Given the description of an element on the screen output the (x, y) to click on. 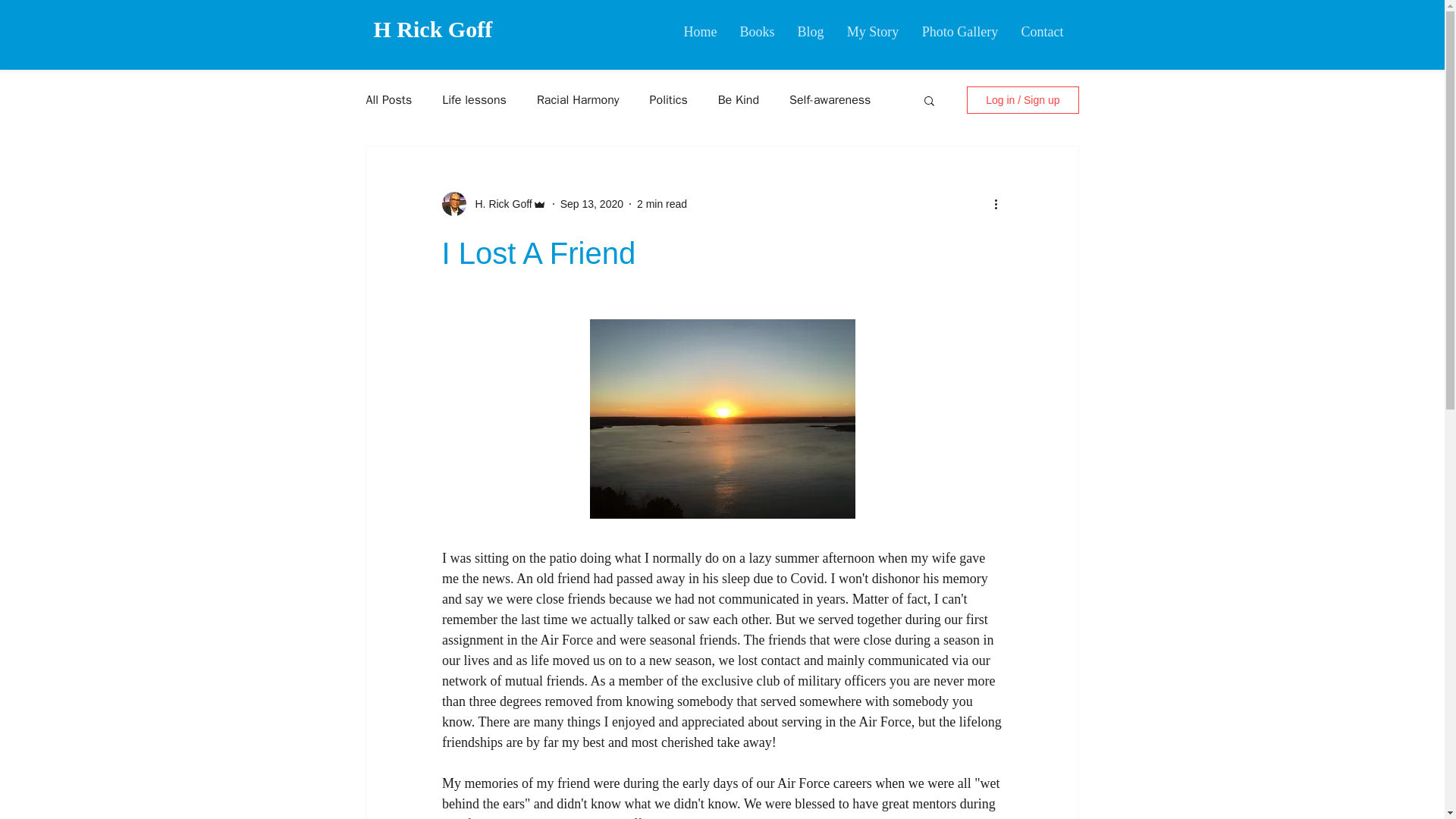
Blog (810, 31)
Sep 13, 2020 (591, 203)
Racial Harmony (578, 100)
Books (757, 31)
Home (699, 31)
H. Rick Goff (498, 203)
All Posts (388, 100)
H Rick Goff (432, 28)
Contact (1042, 31)
My Story (873, 31)
Self-awareness (829, 100)
Politics (668, 100)
Life lessons (474, 100)
2 min read (662, 203)
Be Kind (737, 100)
